Given the description of an element on the screen output the (x, y) to click on. 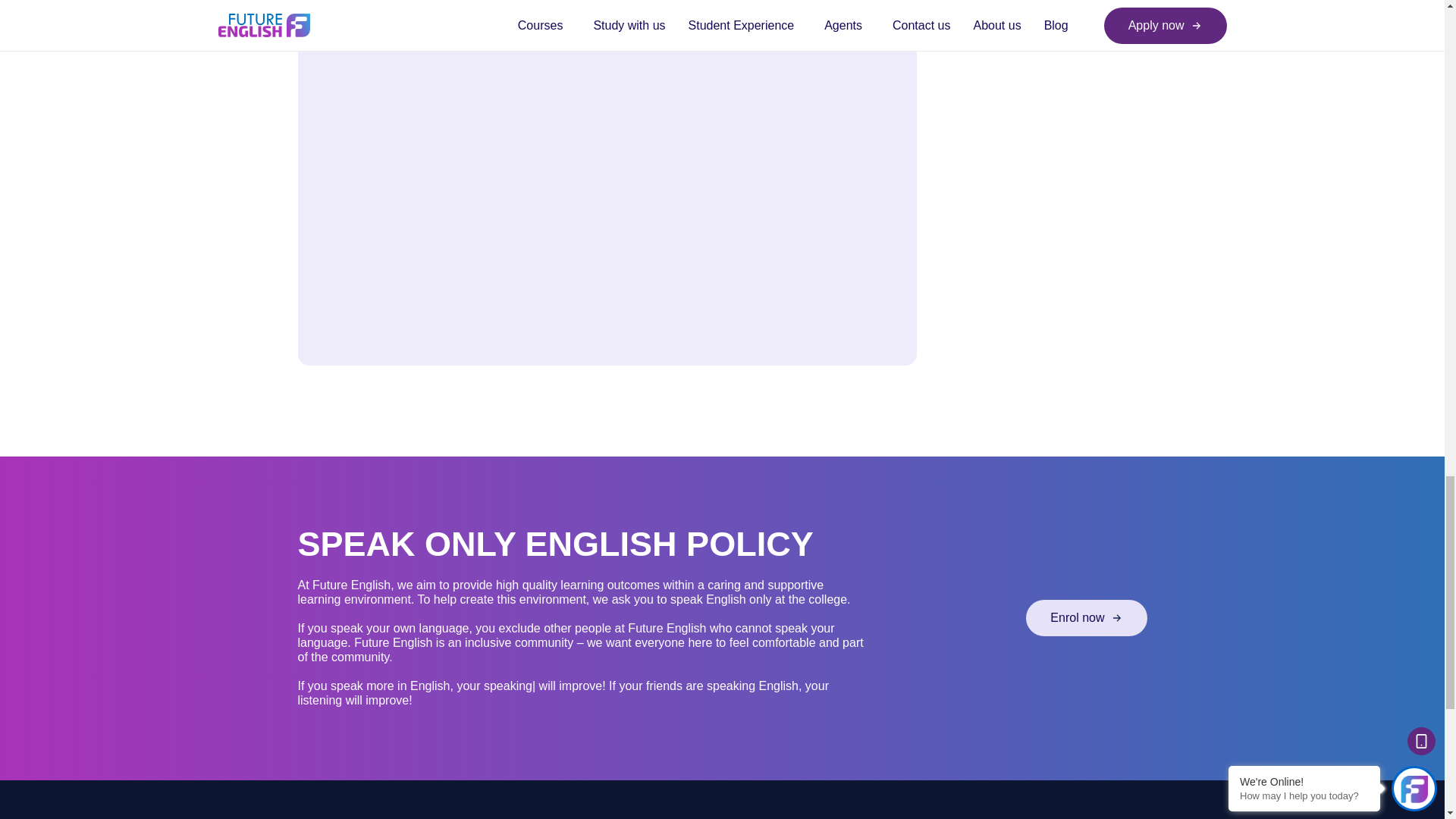
Enrol now (1086, 617)
